Given the description of an element on the screen output the (x, y) to click on. 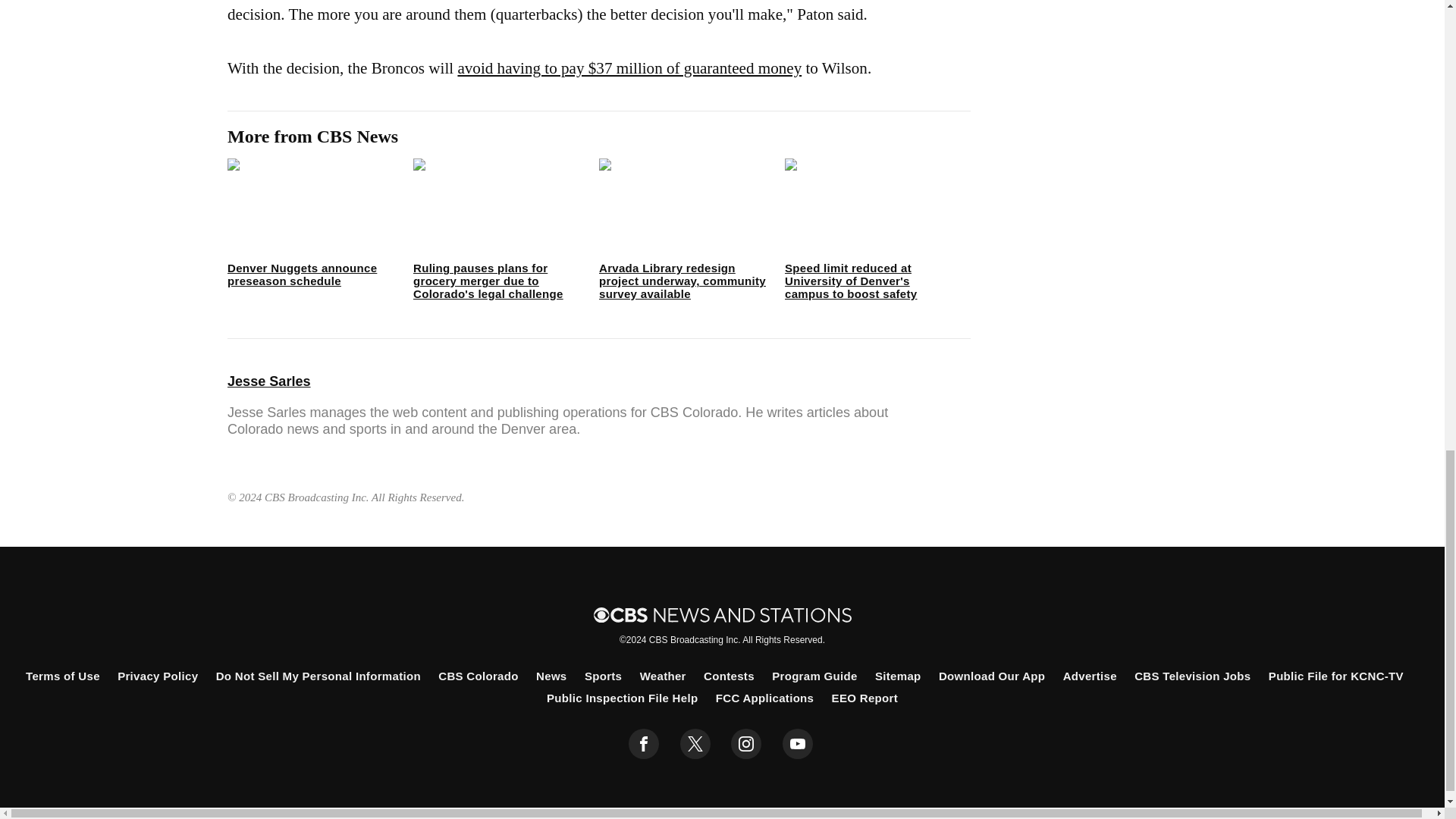
twitter (694, 743)
instagram (745, 743)
facebook (643, 743)
youtube (797, 743)
